Given the description of an element on the screen output the (x, y) to click on. 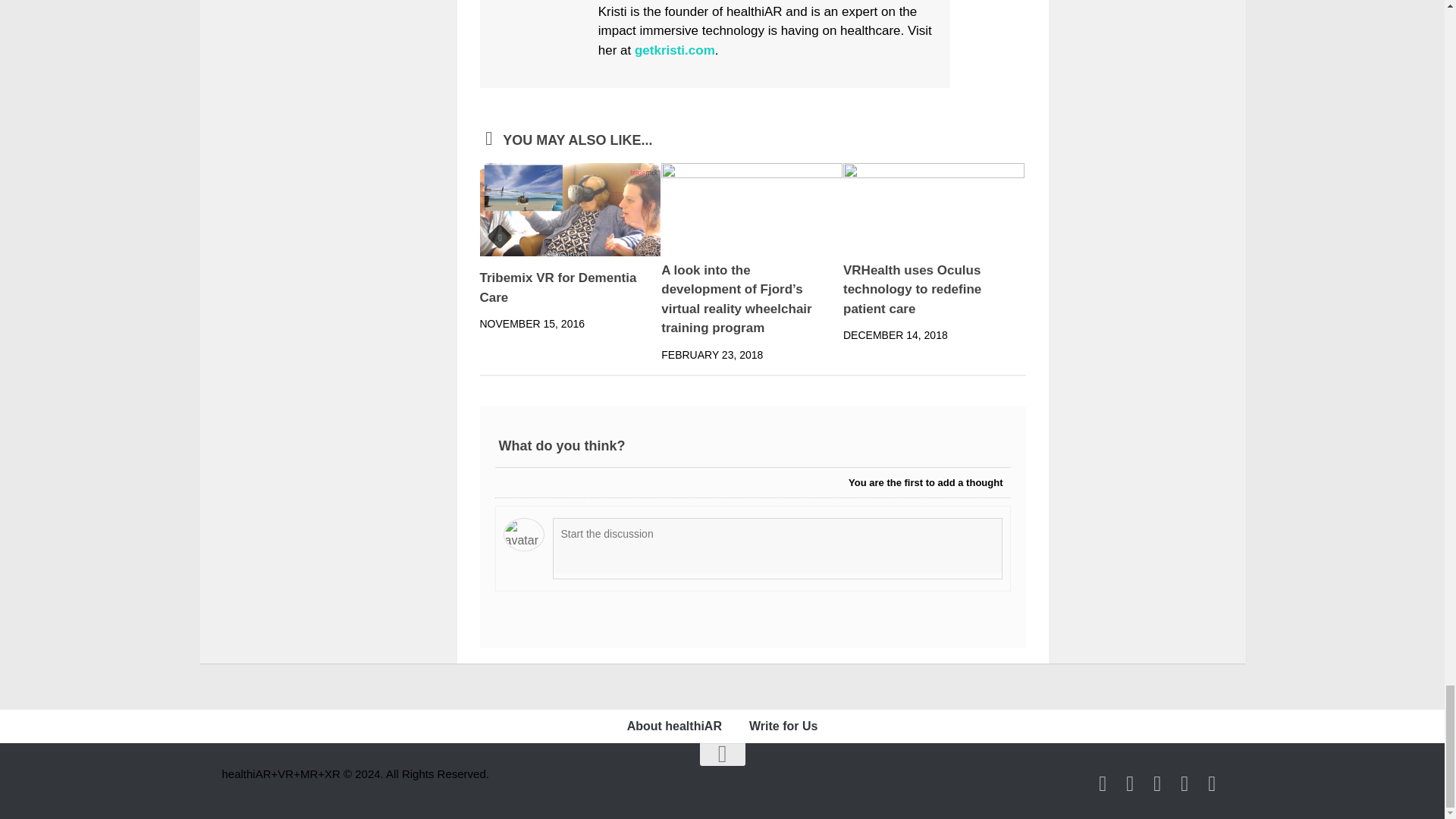
Permalink to Tribemix VR for Dementia Care (557, 287)
Permalink to Tribemix VR for Dementia Care (570, 209)
